Given the description of an element on the screen output the (x, y) to click on. 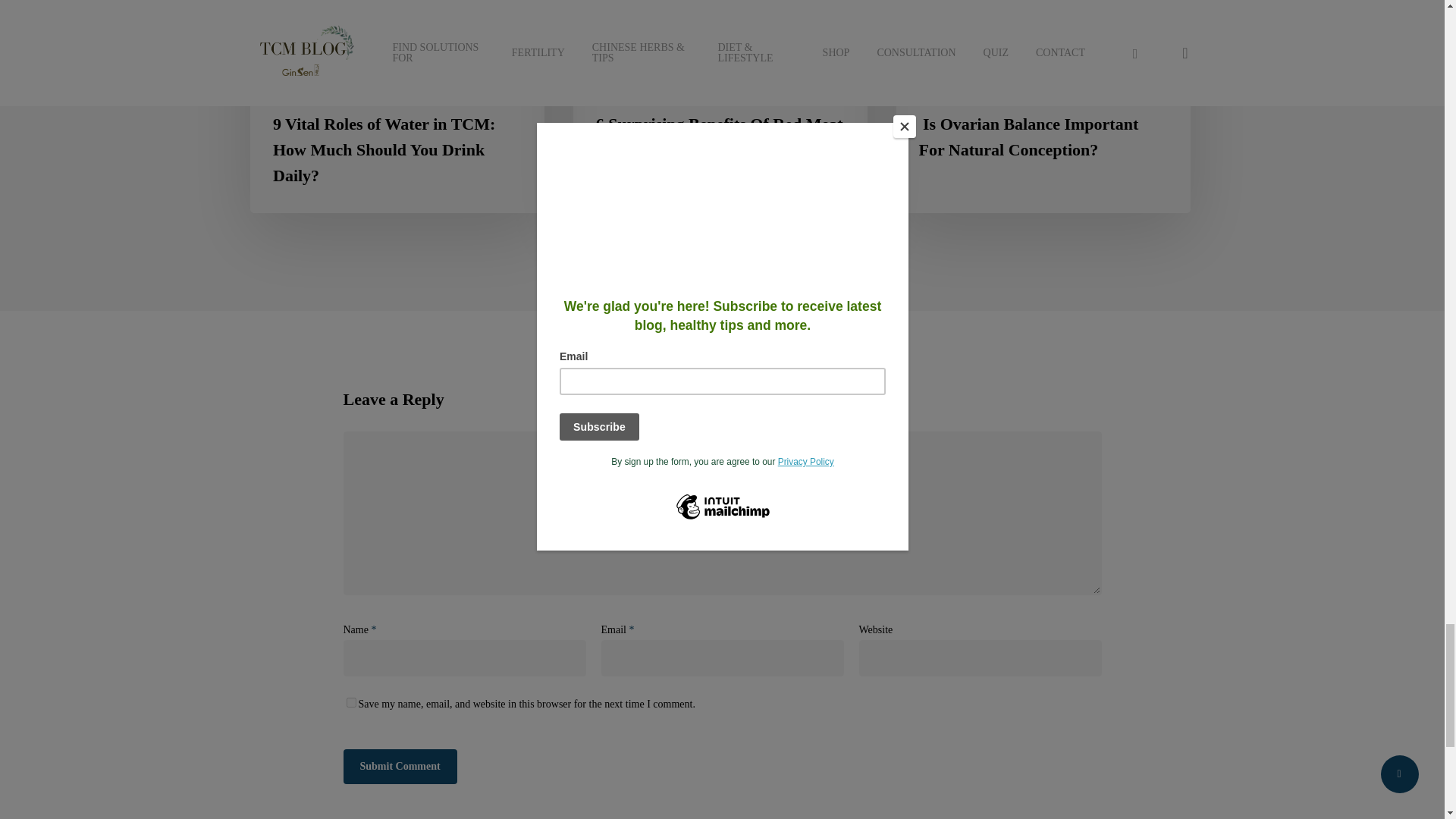
Submit Comment (399, 766)
yes (350, 702)
